Given the description of an element on the screen output the (x, y) to click on. 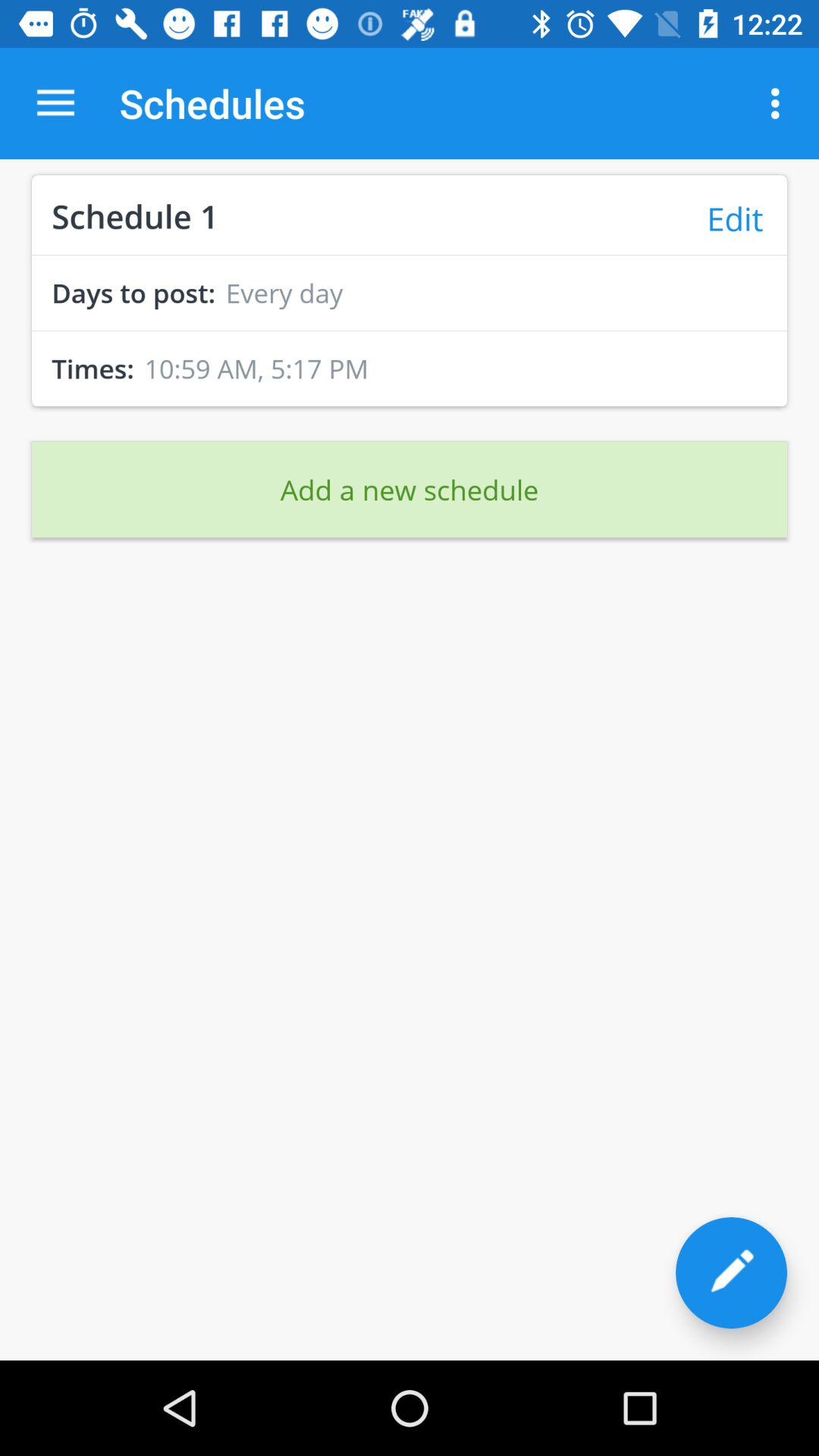
open item at the center (409, 489)
